Given the description of an element on the screen output the (x, y) to click on. 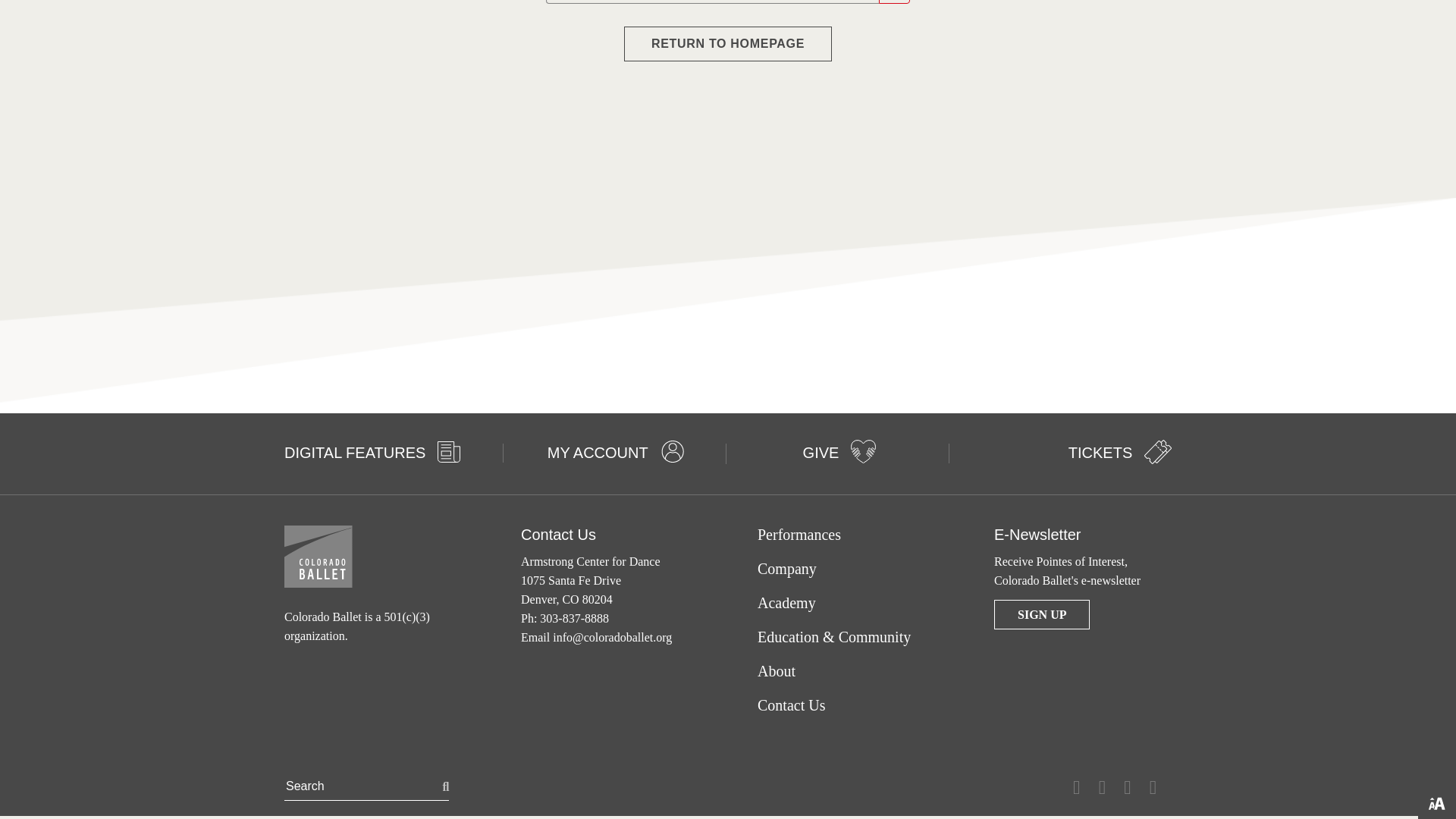
Give (863, 451)
Digital Features (449, 452)
My Account (672, 451)
Tickets (1158, 451)
